Given the description of an element on the screen output the (x, y) to click on. 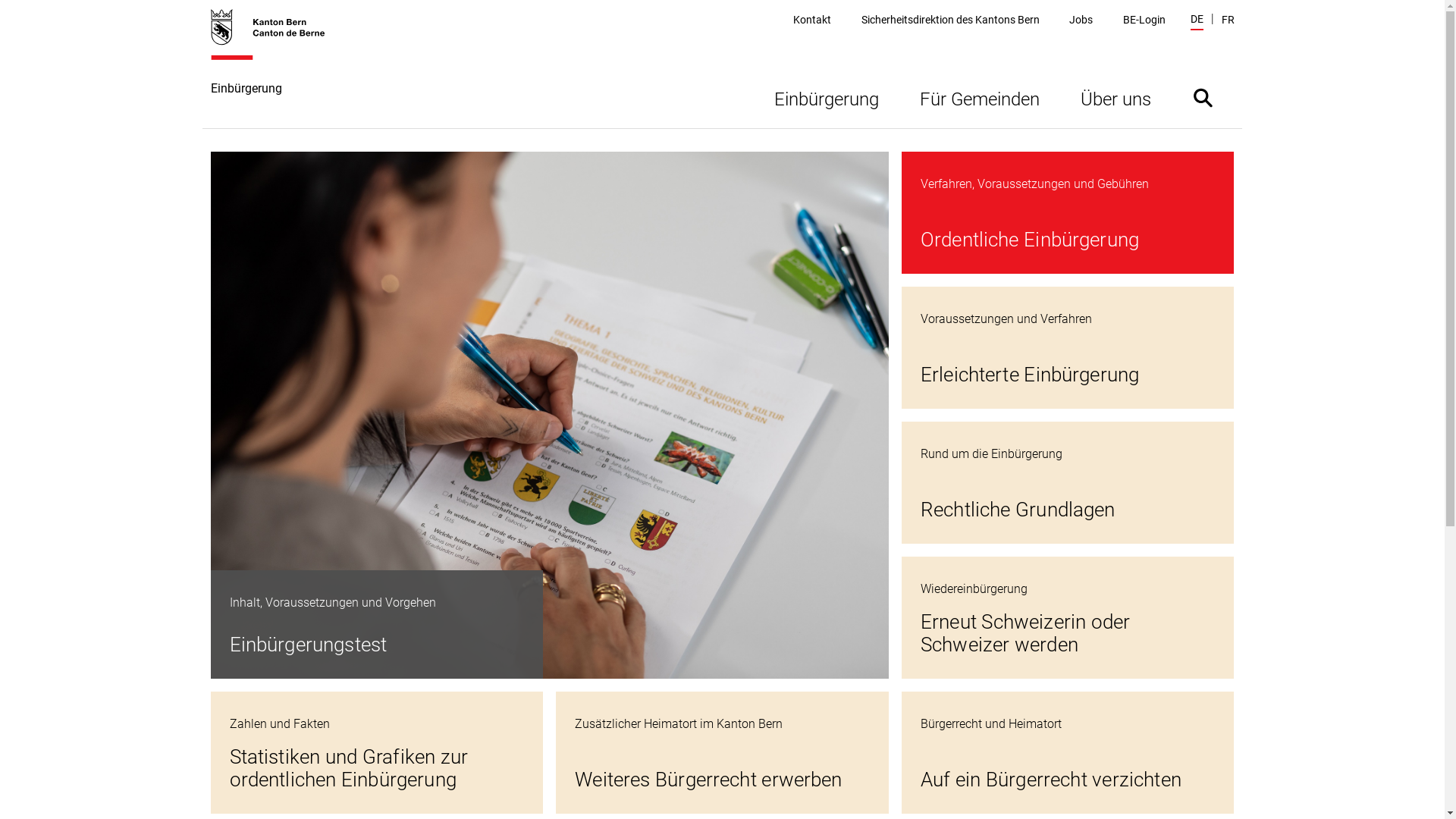
Suche ein- oder ausblenden Element type: text (1201, 96)
Kontakt Element type: text (812, 19)
BE-Login Element type: text (1144, 19)
FR Element type: text (1226, 19)
Jobs Element type: text (1080, 19)
DE Element type: text (1196, 21)
Sicherheitsdirektion des Kantons Bern Element type: text (950, 19)
